Given the description of an element on the screen output the (x, y) to click on. 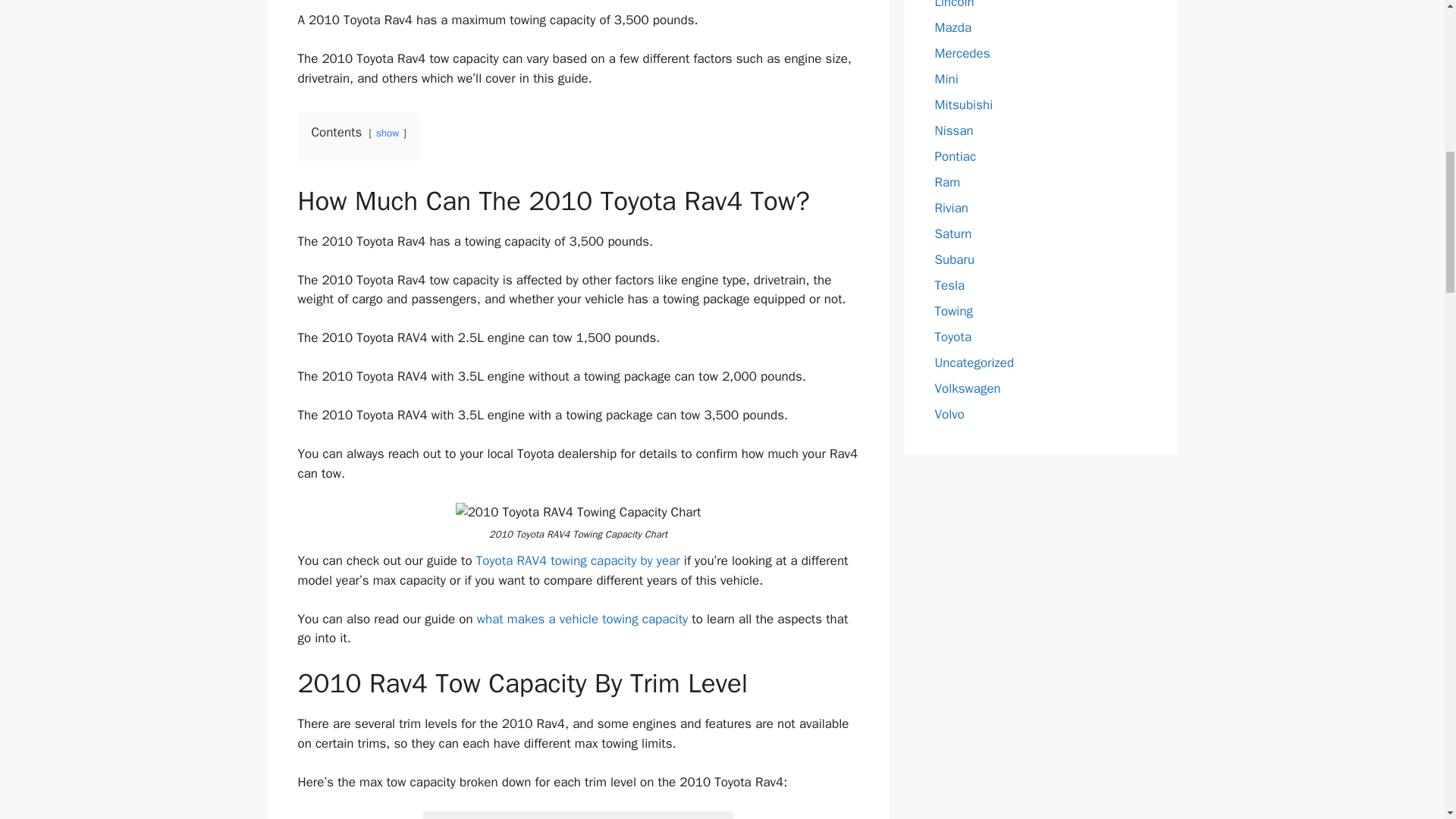
what makes a vehicle towing capacity (582, 618)
show (386, 132)
Toyota RAV4 towing capacity by year (577, 560)
